Given the description of an element on the screen output the (x, y) to click on. 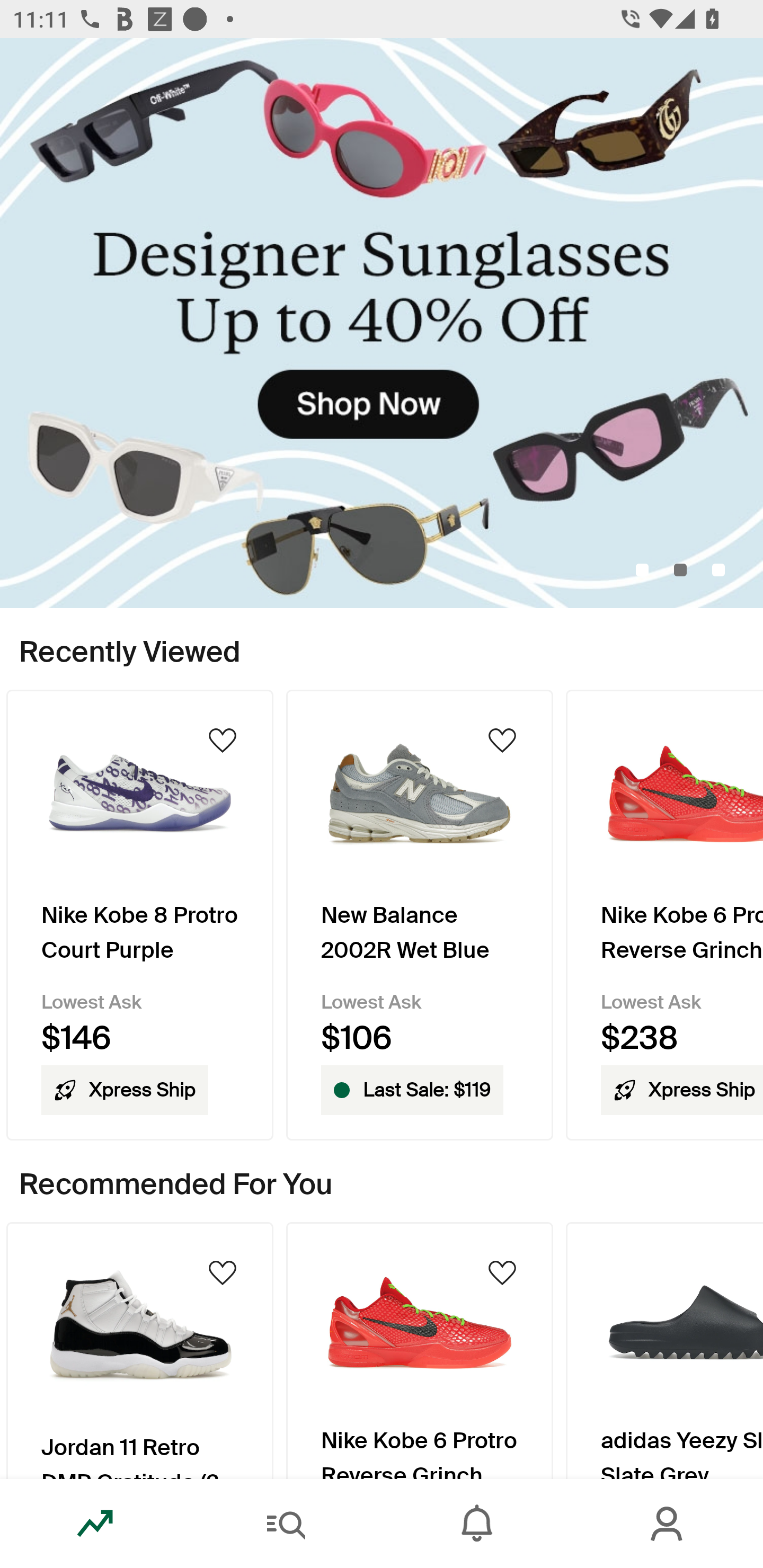
DesignerSunglassesUpto40_Off_Primary_Mobile.jpg (381, 322)
Product Image Jordan 11 Retro DMP Gratitude (2023) (139, 1349)
Product Image Nike Kobe 6 Protro Reverse Grinch (419, 1349)
Product Image adidas Yeezy Slide Slate Grey (664, 1349)
Search (285, 1523)
Inbox (476, 1523)
Account (667, 1523)
